Given the description of an element on the screen output the (x, y) to click on. 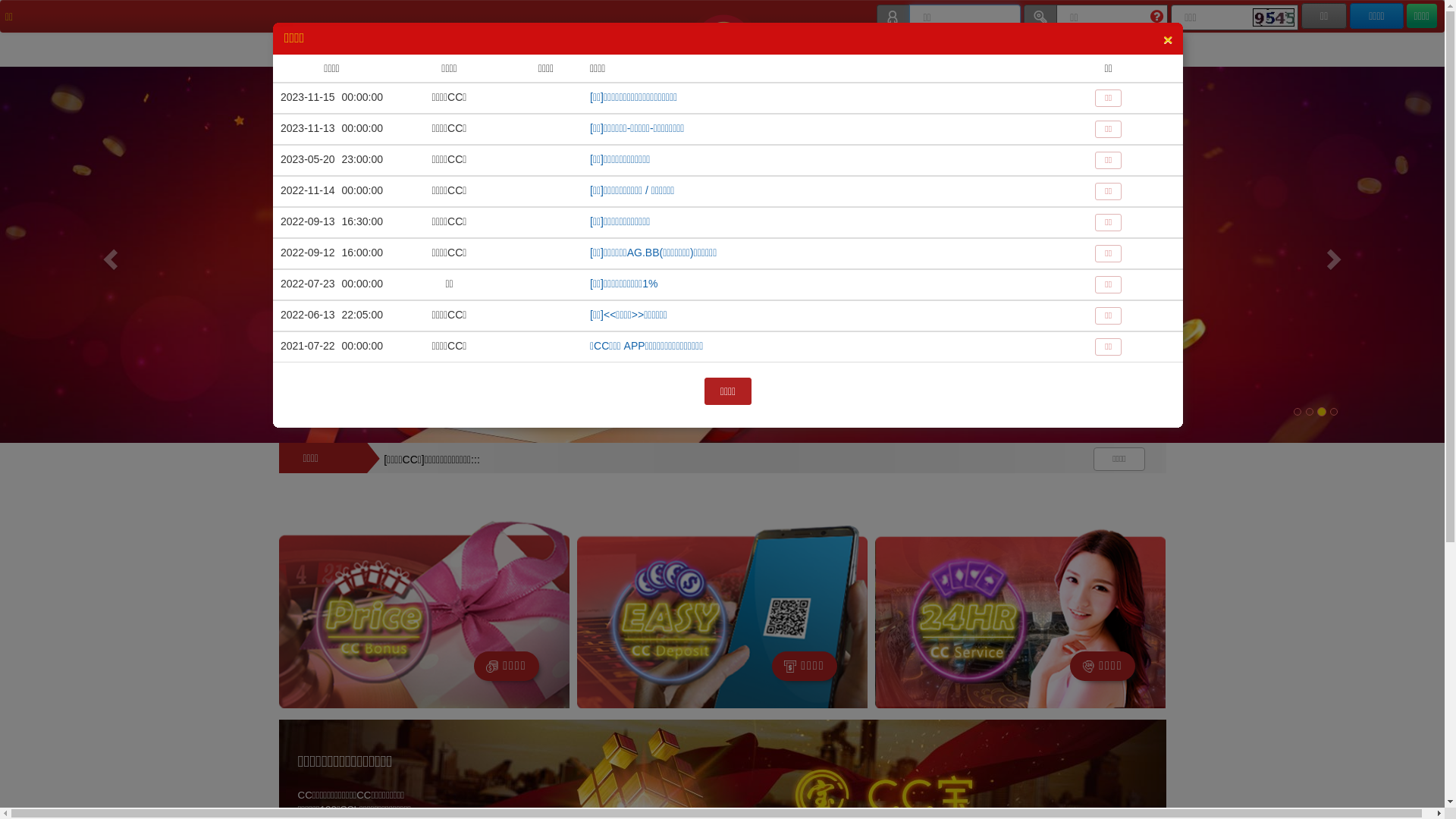
Next Element type: text (1335, 254)
Previous Element type: text (108, 254)
CC CASINO Element type: text (523, 51)
